Given the description of an element on the screen output the (x, y) to click on. 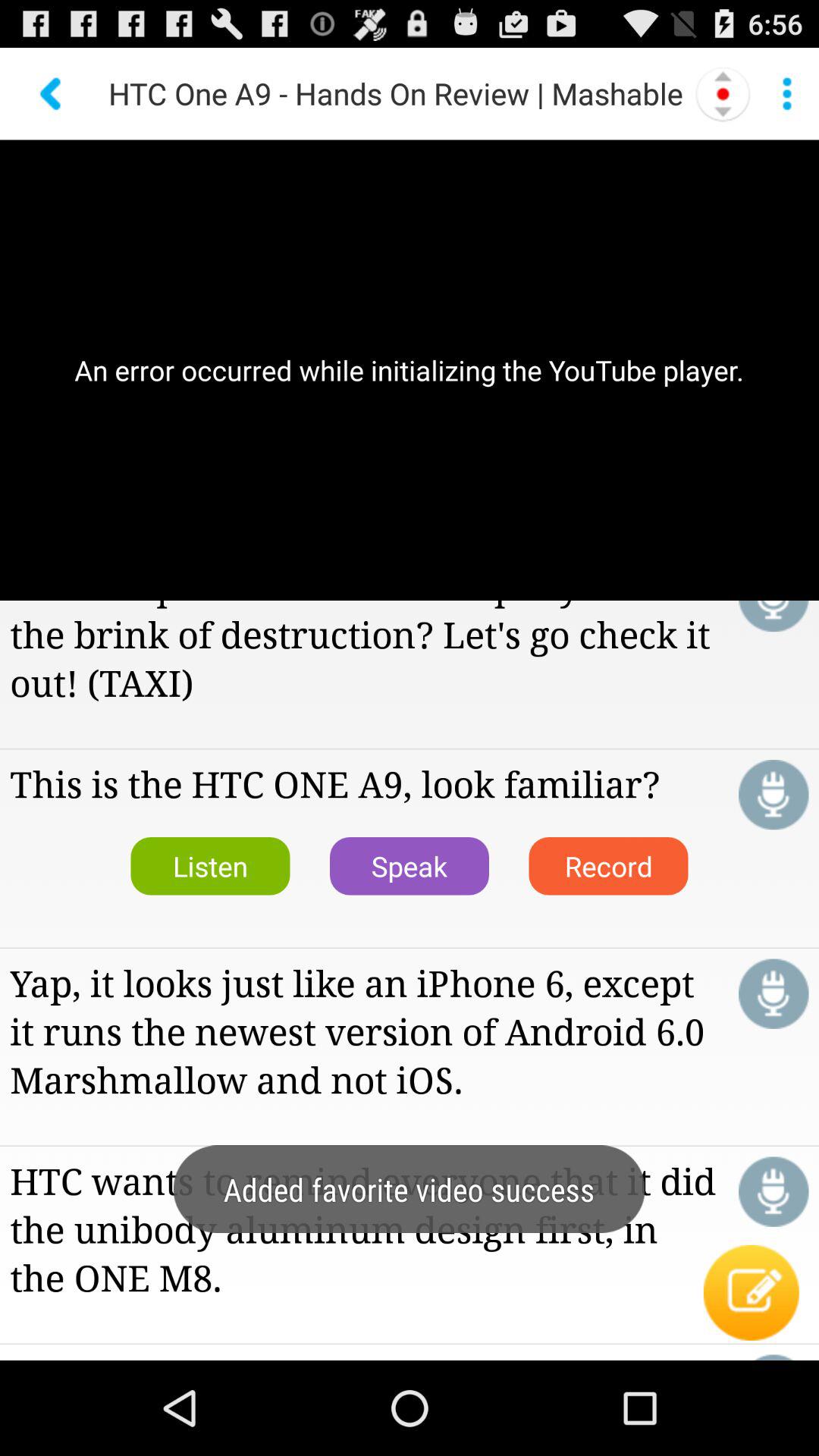
listen text (773, 615)
